Given the description of an element on the screen output the (x, y) to click on. 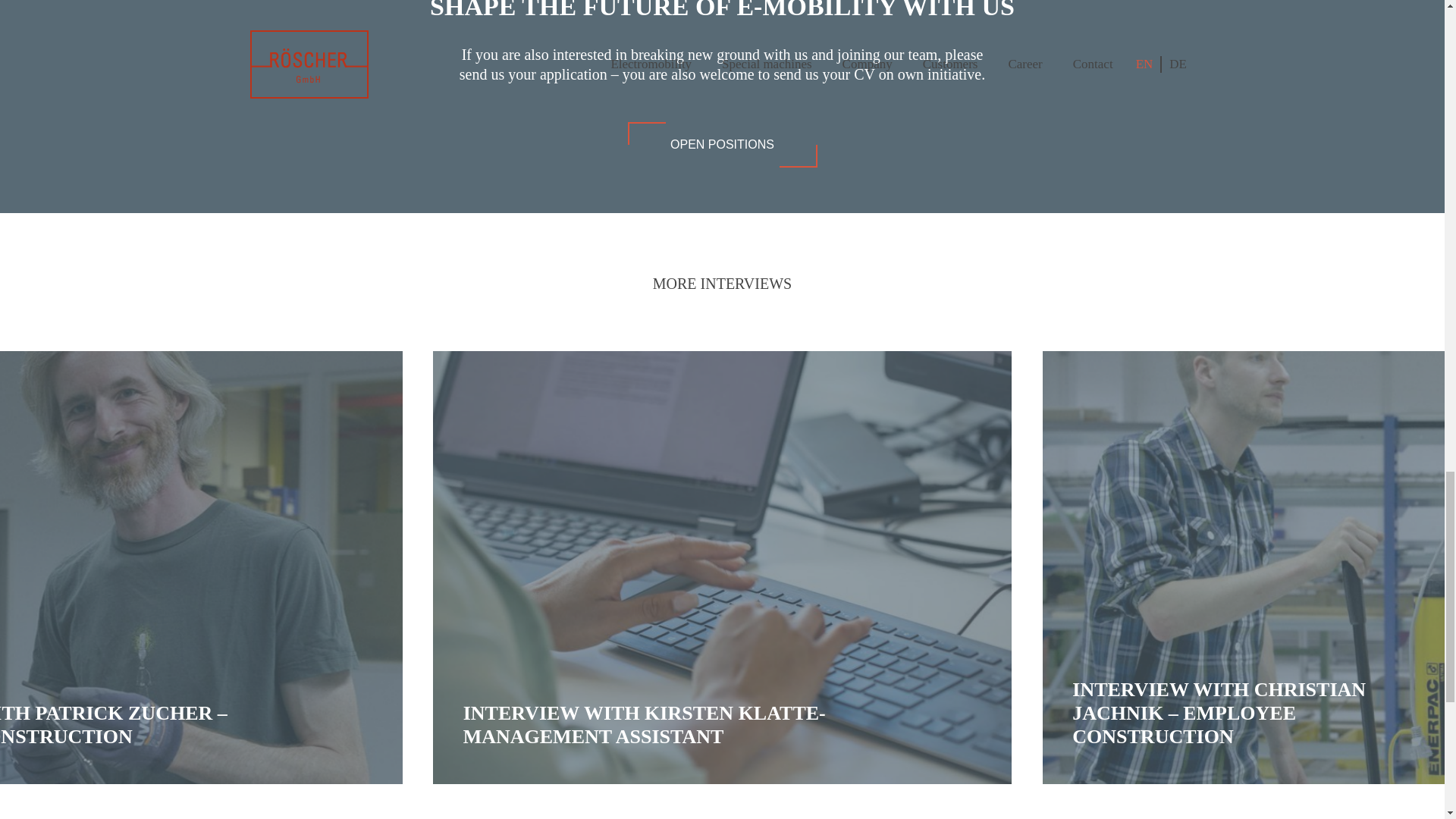
OPEN POSITIONS (721, 144)
